Given the description of an element on the screen output the (x, y) to click on. 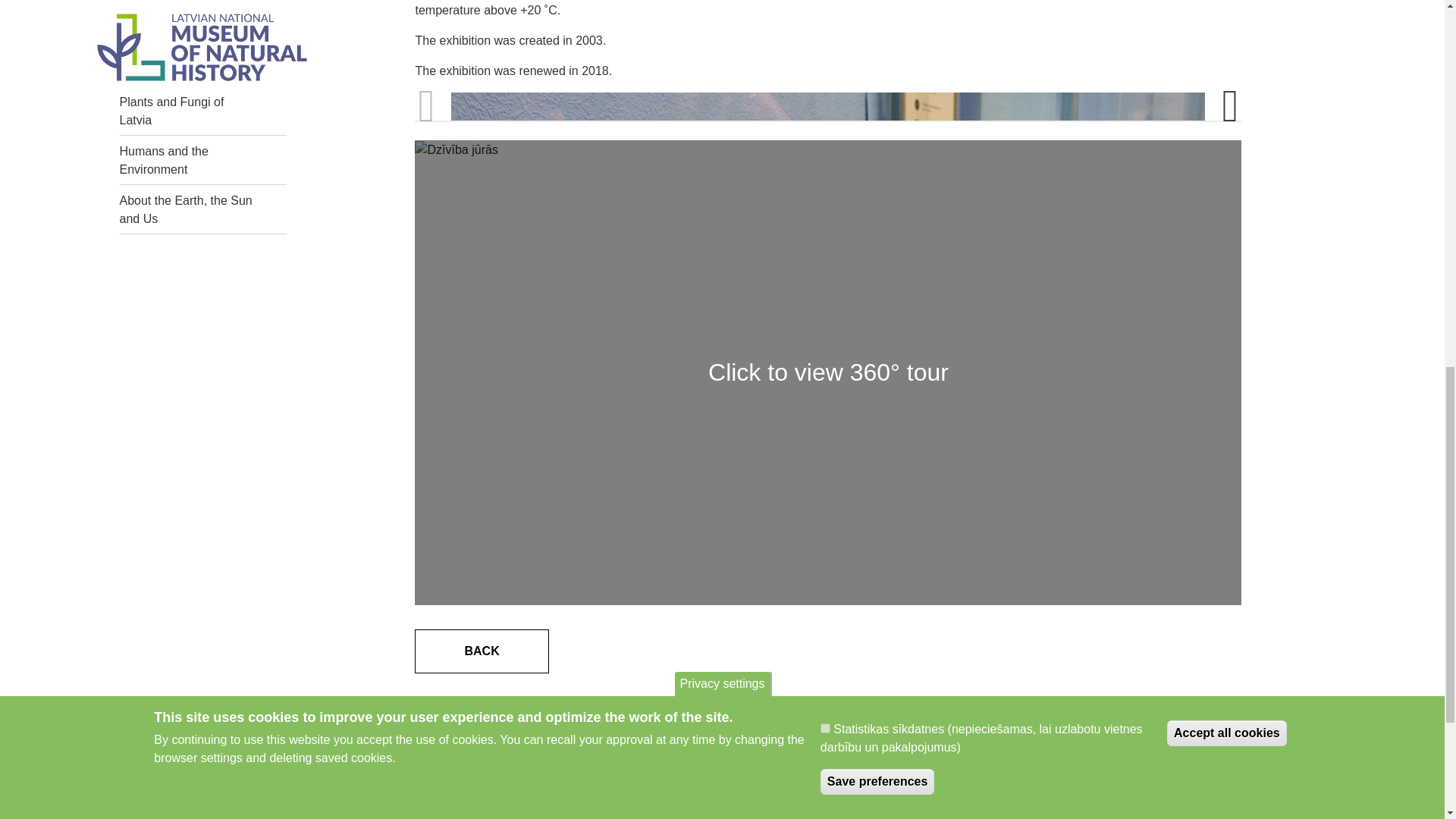
Twitter (1279, 756)
Instagram (1328, 756)
Facebook (1231, 756)
